Given the description of an element on the screen output the (x, y) to click on. 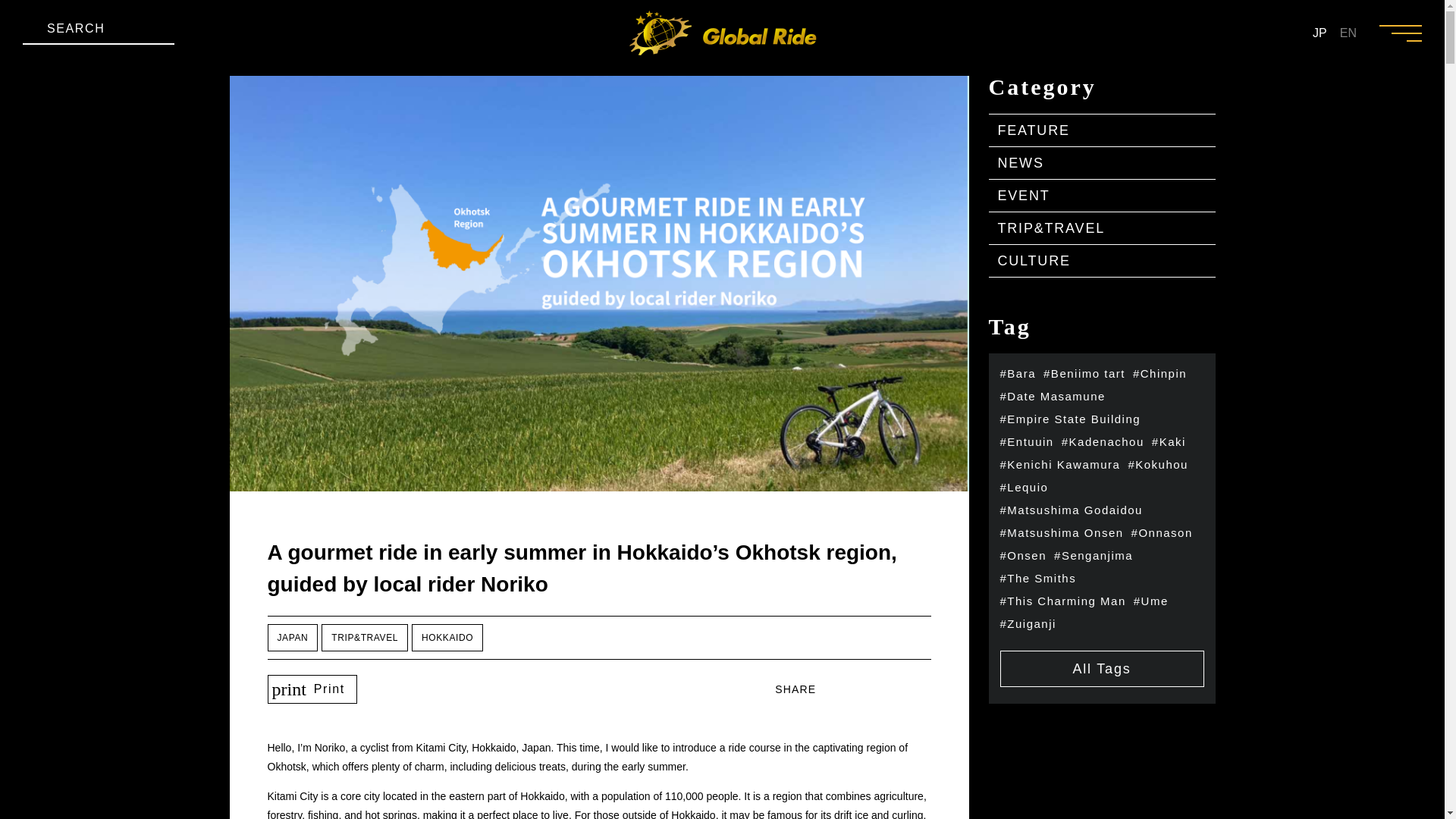
CULTURE (1101, 260)
Print (328, 689)
FEATURE (1101, 130)
JP (1319, 33)
NEWS (1101, 163)
EN (1347, 33)
HOKKAIDO (447, 637)
SEARCH (98, 31)
EVENT (1101, 195)
JAPAN (291, 637)
